Given the description of an element on the screen output the (x, y) to click on. 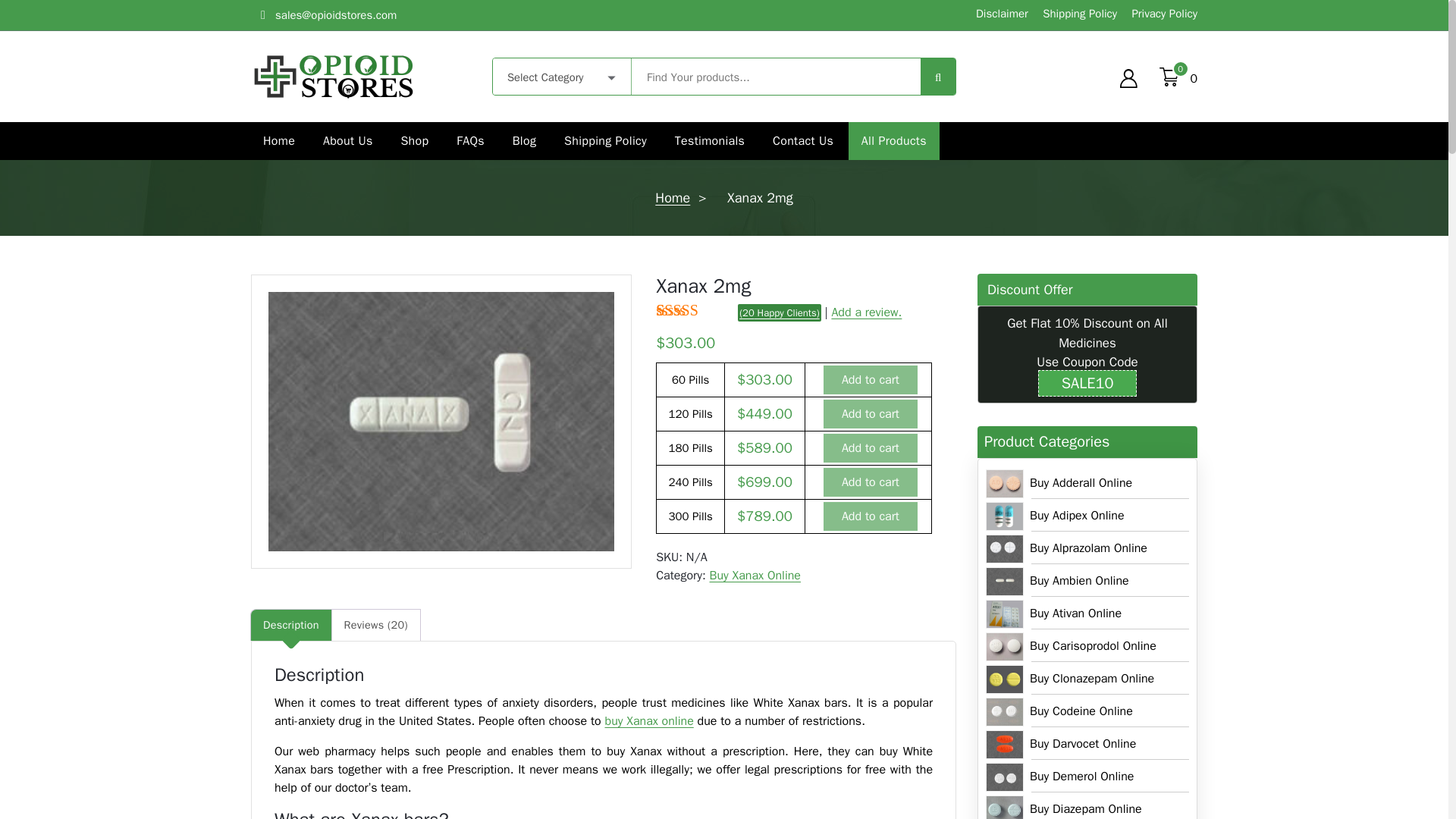
0 (1168, 76)
Contact Us (802, 140)
Shipping Policy (605, 140)
Add to cart (870, 379)
FAQs (470, 140)
Blog (524, 140)
About Us (347, 140)
Disclaimer (999, 13)
Home (278, 140)
Blog (524, 140)
Shipping Policy (605, 140)
Shop (414, 140)
About Us (347, 140)
Testimonials (709, 140)
Testimonials (709, 140)
